Given the description of an element on the screen output the (x, y) to click on. 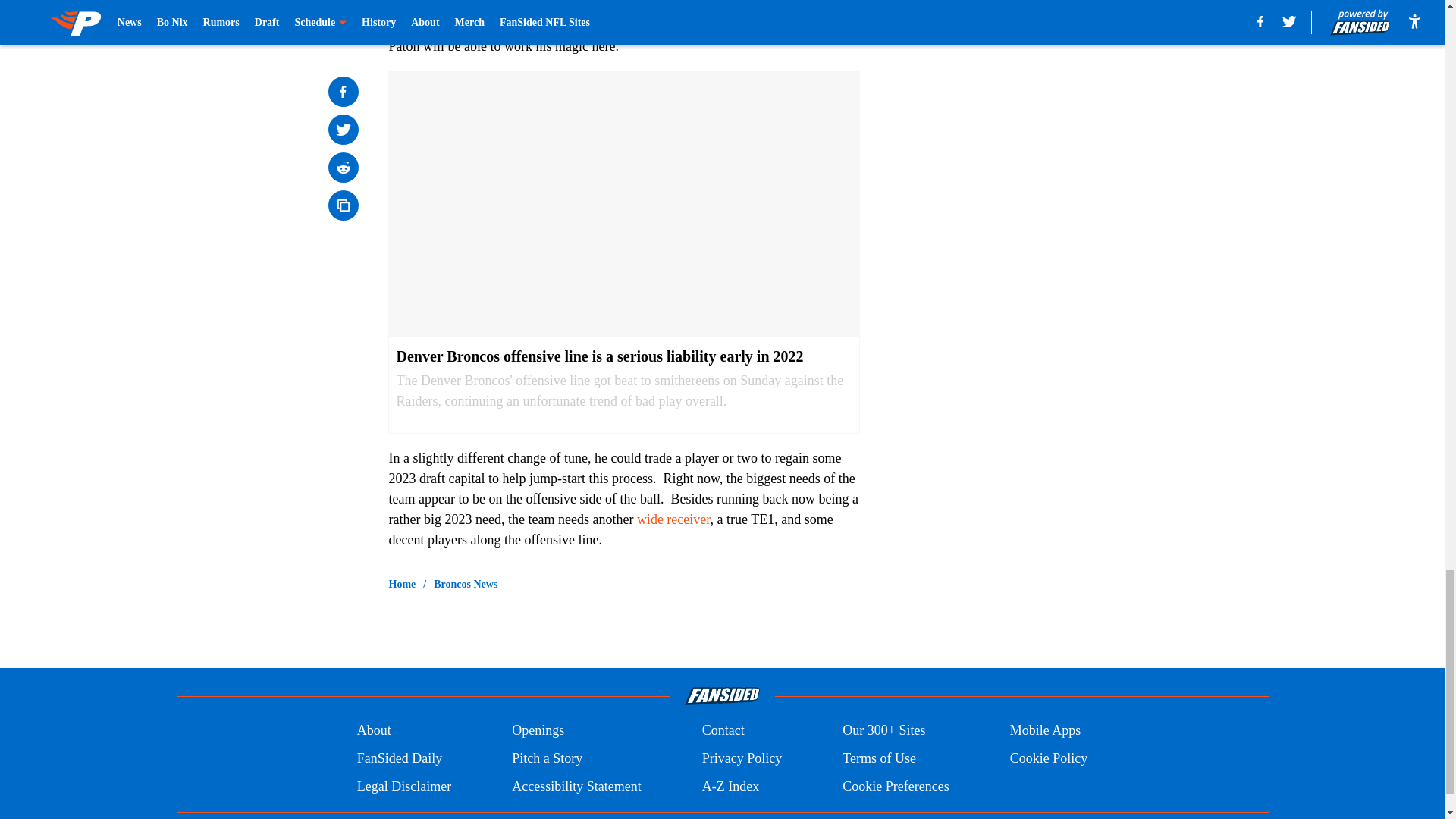
Broncos News (465, 584)
wide receiver (673, 519)
About (373, 730)
Openings (538, 730)
Pitch a Story (547, 758)
Contact (722, 730)
Privacy Policy (742, 758)
Terms of Use (879, 758)
Home (401, 584)
